Given the description of an element on the screen output the (x, y) to click on. 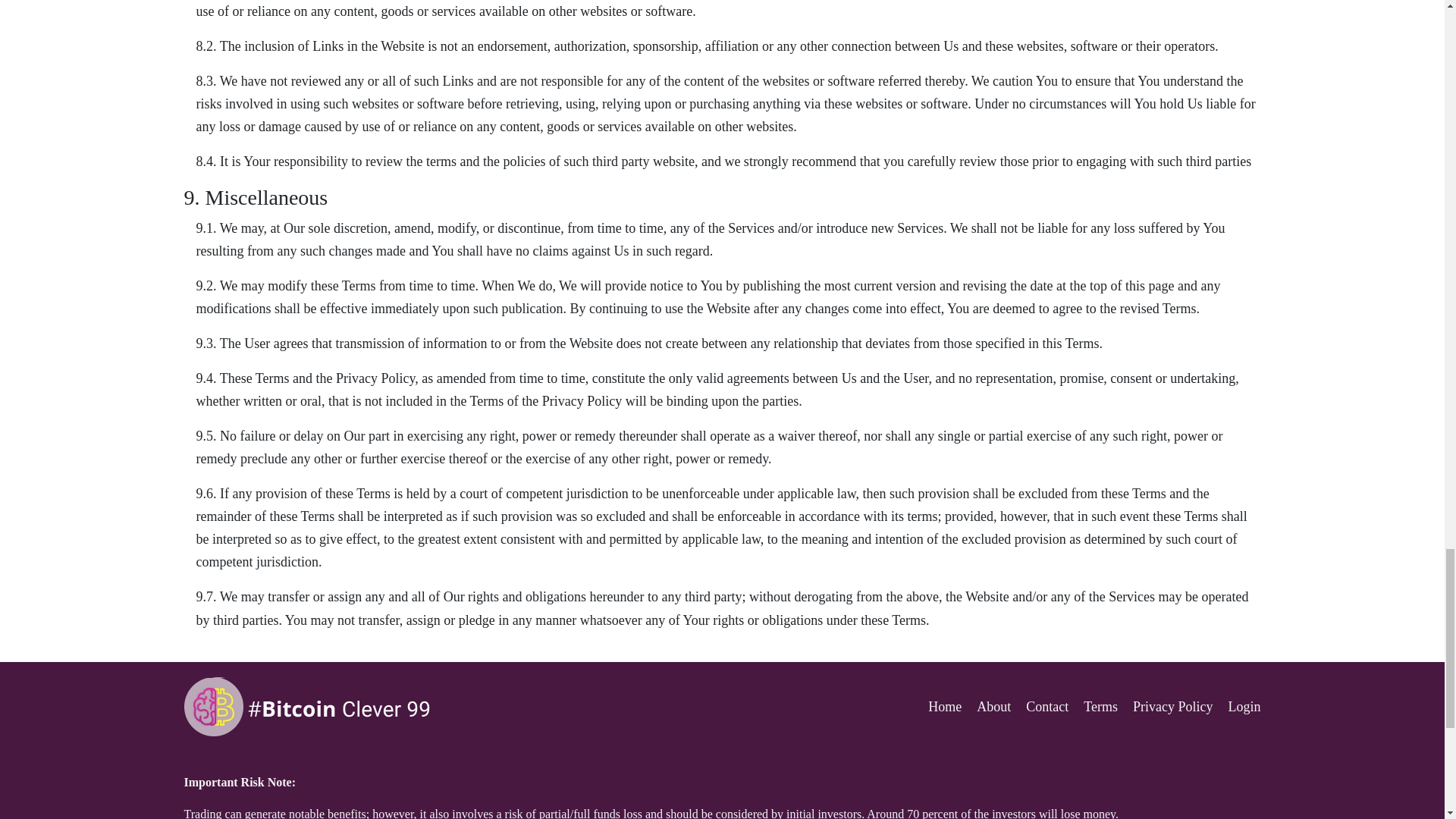
Privacy Policy (1172, 706)
About (993, 706)
Contact (1047, 706)
Login (1244, 706)
Terms (1100, 706)
Home (944, 706)
